Given the description of an element on the screen output the (x, y) to click on. 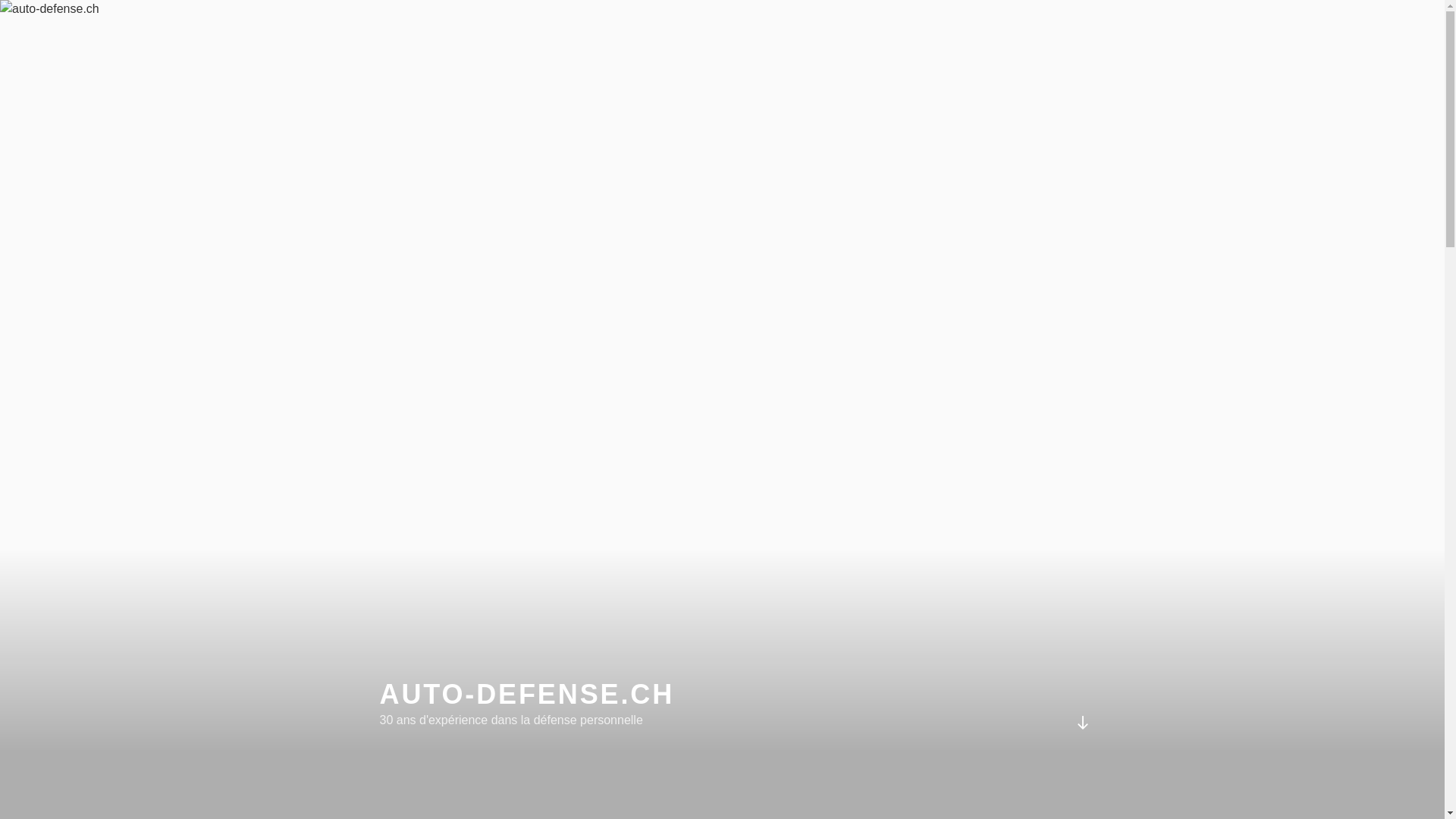
Descendre au contenu Element type: text (1082, 722)
AUTO-DEFENSE.CH Element type: text (526, 693)
